Given the description of an element on the screen output the (x, y) to click on. 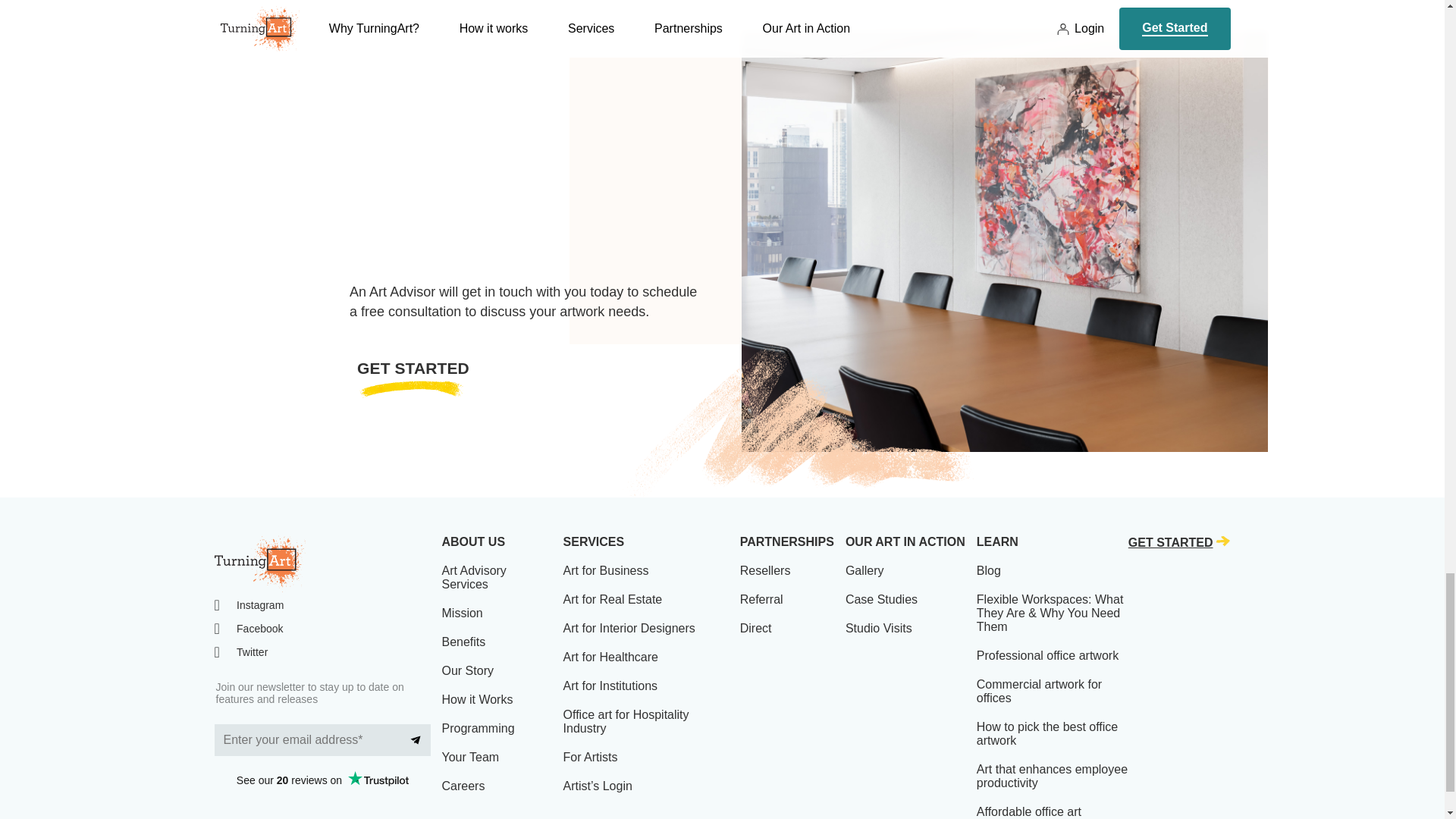
Customer reviews powered by Trustpilot (321, 780)
Submit (415, 739)
